Given the description of an element on the screen output the (x, y) to click on. 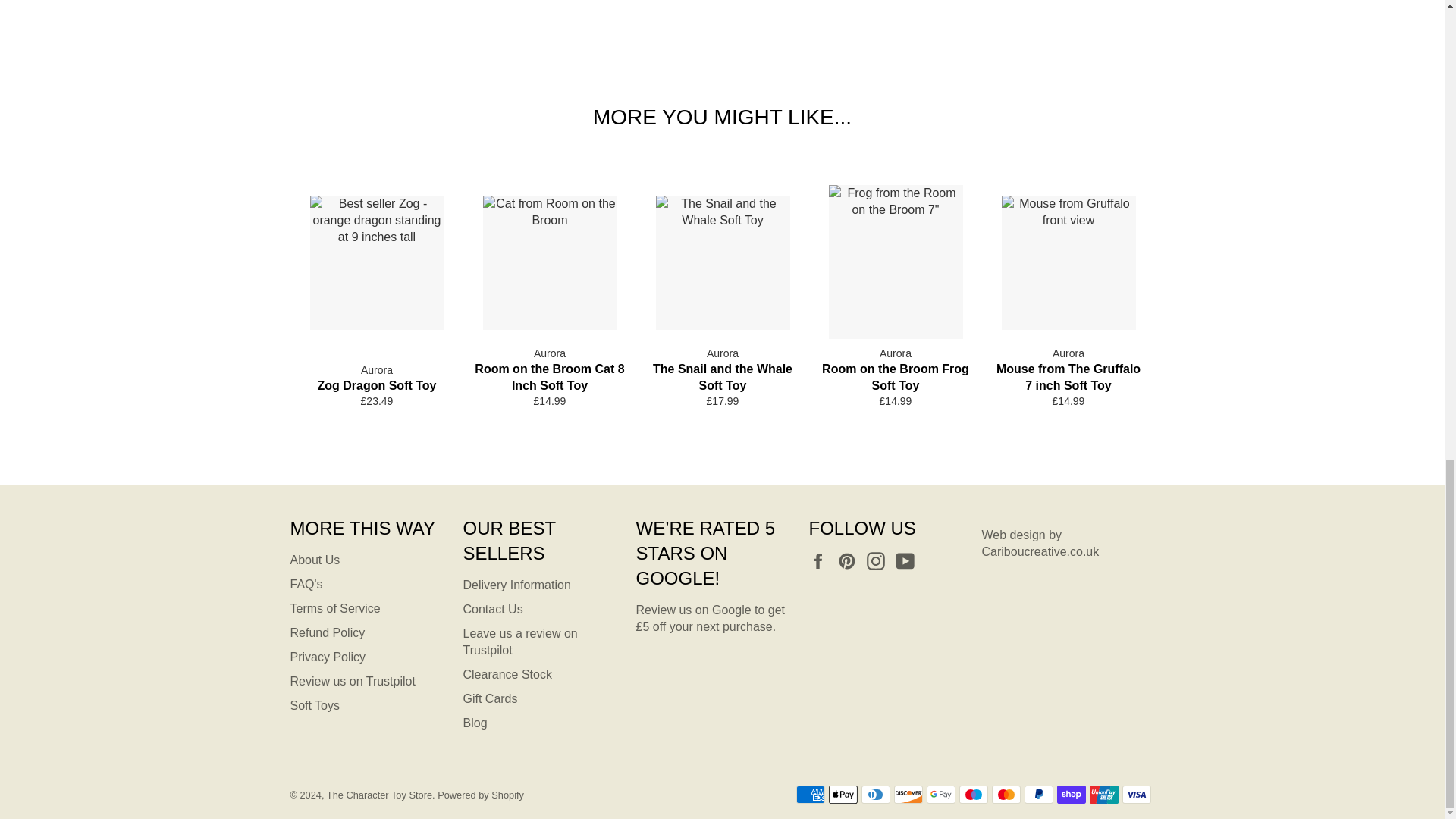
The Character Toy Store on YouTube (908, 561)
The Character Toy Store on Pinterest (850, 561)
Web Design by Caribou Creative (1040, 542)
The Character Toy Store on Facebook (821, 561)
The Character Toy Store on Instagram (879, 561)
